Given the description of an element on the screen output the (x, y) to click on. 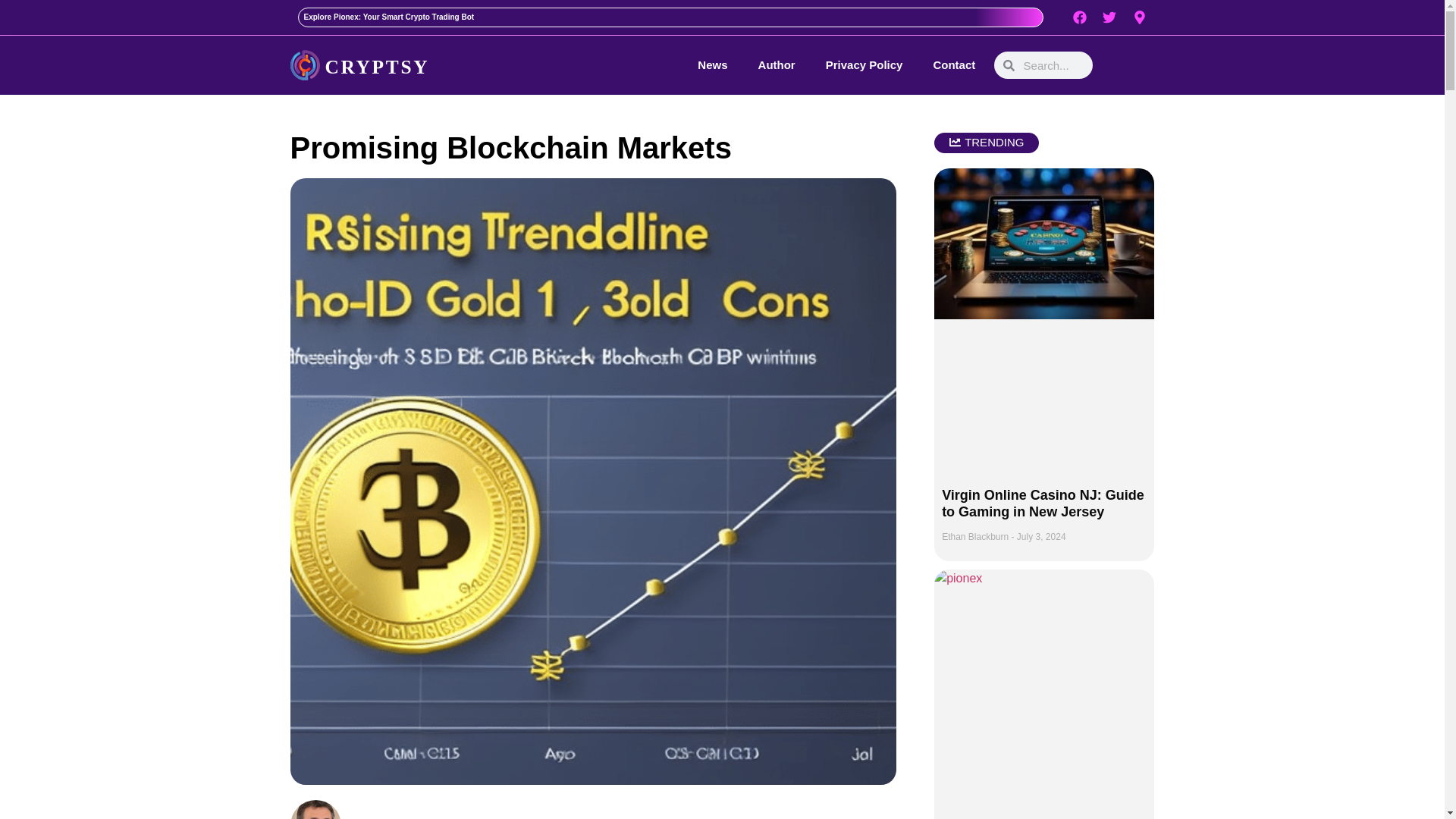
Author (776, 64)
Privacy Policy (863, 64)
Explore Pionex: Your Smart Crypto Trading Bot (388, 17)
Contact (954, 64)
